Given the description of an element on the screen output the (x, y) to click on. 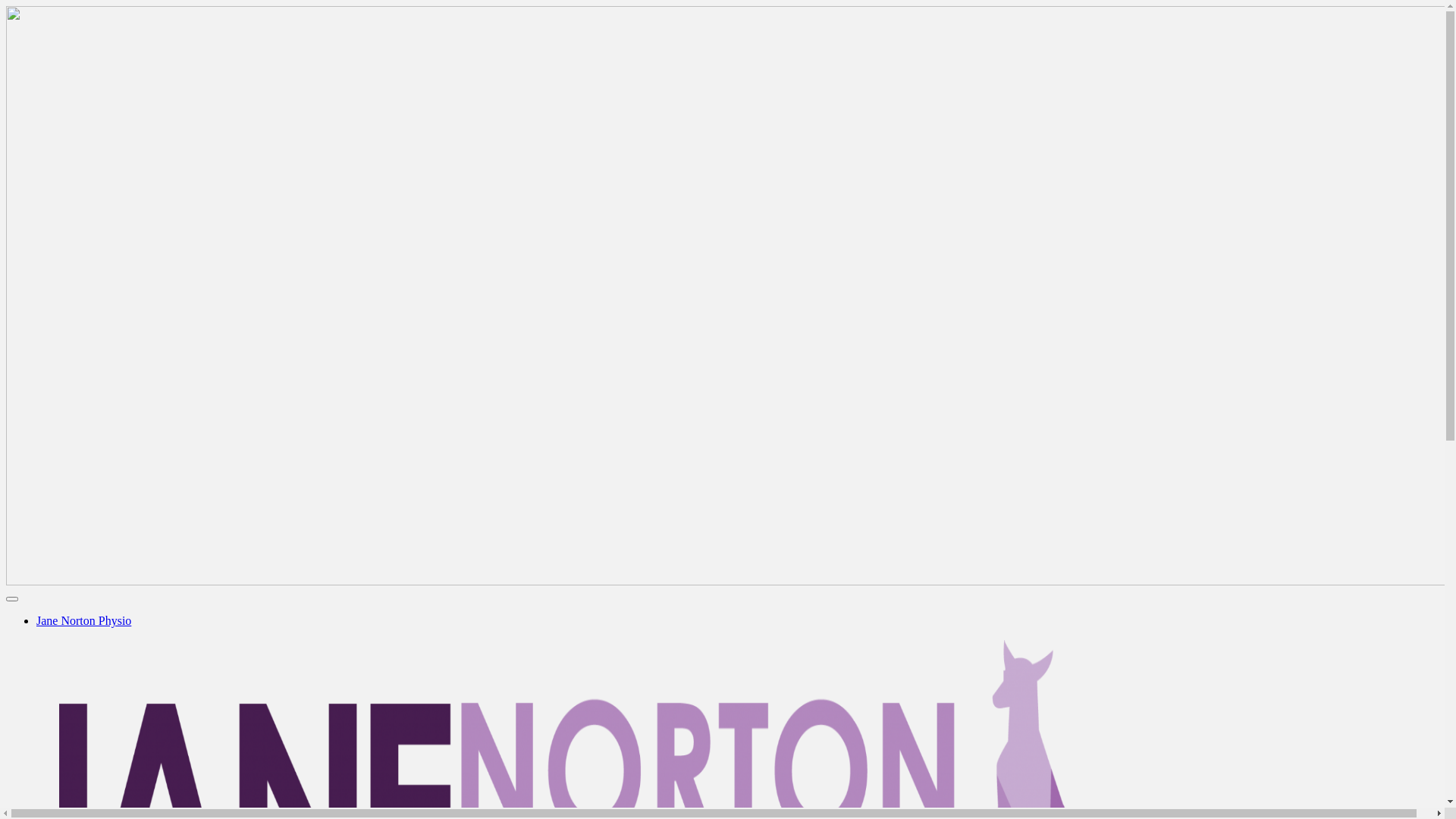
Jane Norton Physio Element type: text (83, 620)
